Given the description of an element on the screen output the (x, y) to click on. 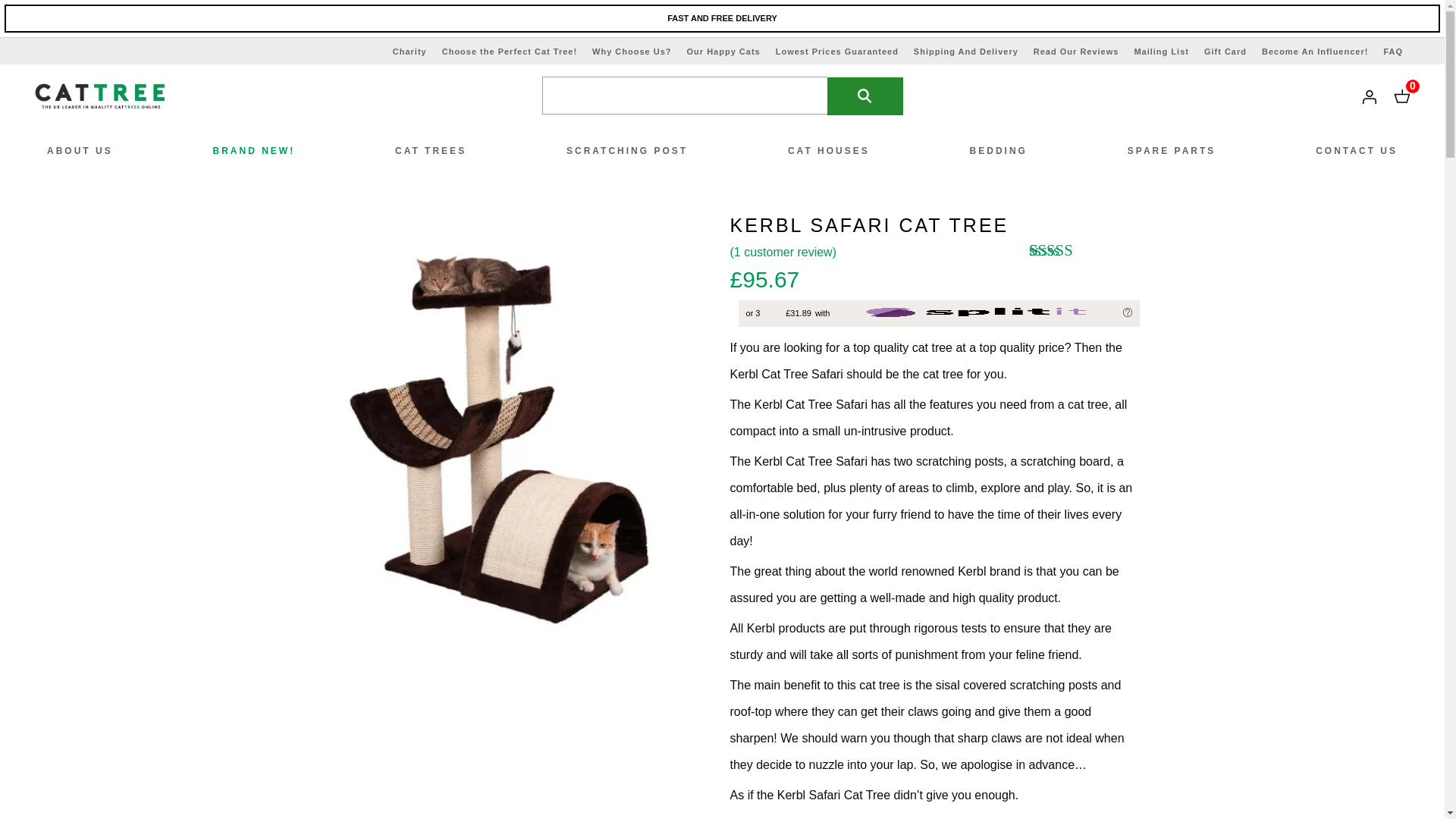
Mailing List (1161, 51)
Search (864, 95)
BRAND NEW! (254, 150)
Why Choose Us? (631, 51)
Choose the Perfect Cat Tree! (509, 51)
Gift Card (1225, 51)
Shipping And Delivery (965, 51)
FAQ (1393, 51)
Become An Influencer! (1315, 51)
Read Our Reviews (1076, 51)
